Given the description of an element on the screen output the (x, y) to click on. 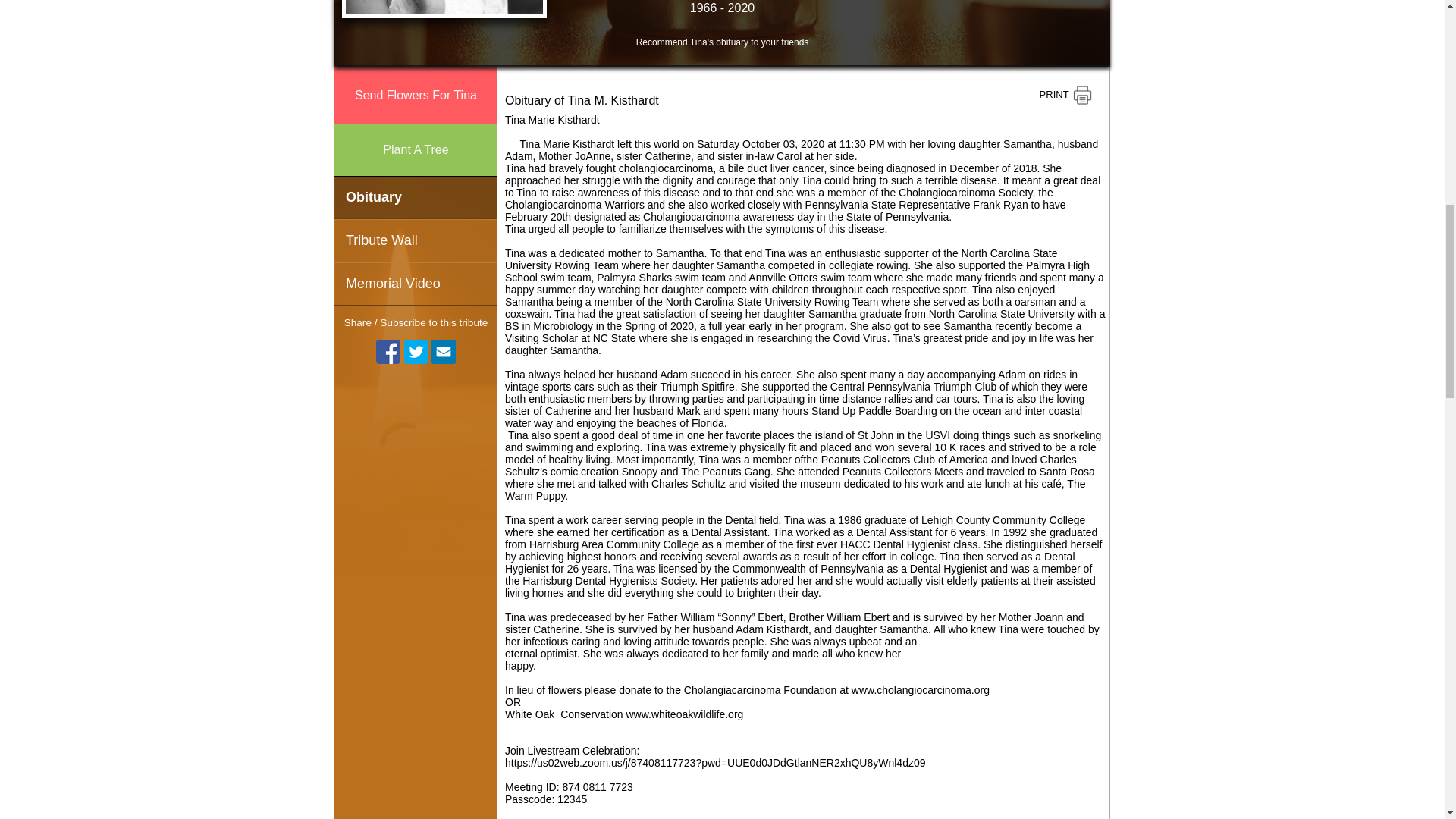
Twitter (415, 351)
Plant A Tree (415, 149)
Receive Notifications (442, 351)
Print (1065, 94)
Facebook (387, 351)
